Given the description of an element on the screen output the (x, y) to click on. 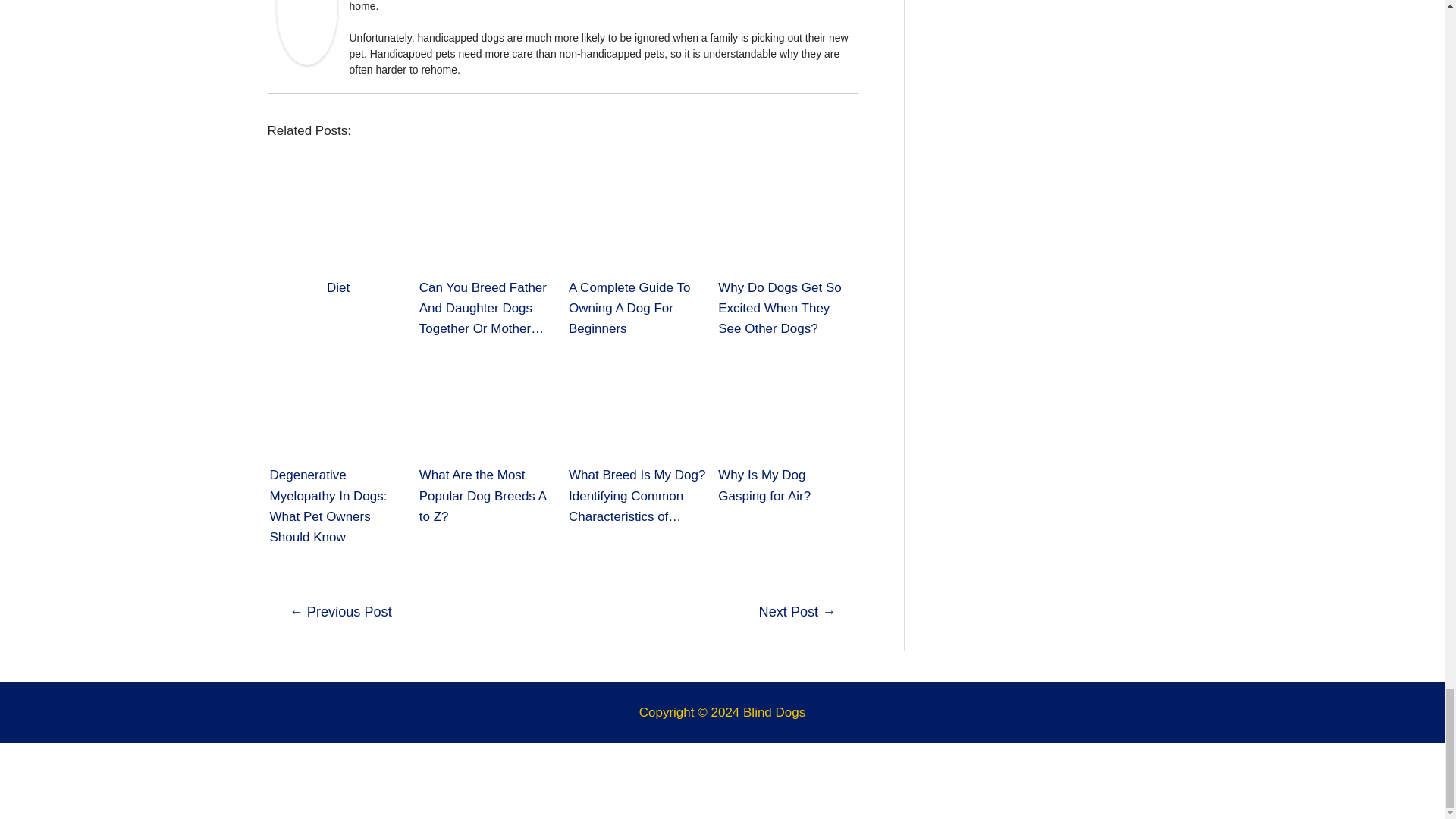
Why Do Dogs Get So Excited When They See Other Dogs? (786, 220)
Megan Turner (306, 7)
A Complete Guide To Owning A Dog For Beginners (637, 220)
What Are the Most Popular Dog Breeds A to Z? (487, 408)
Degenerative Myelopathy In Dogs: What Pet Owners Should Know (338, 408)
Diet (337, 220)
Why Is My Dog Gasping for Air? (786, 408)
